Given the description of an element on the screen output the (x, y) to click on. 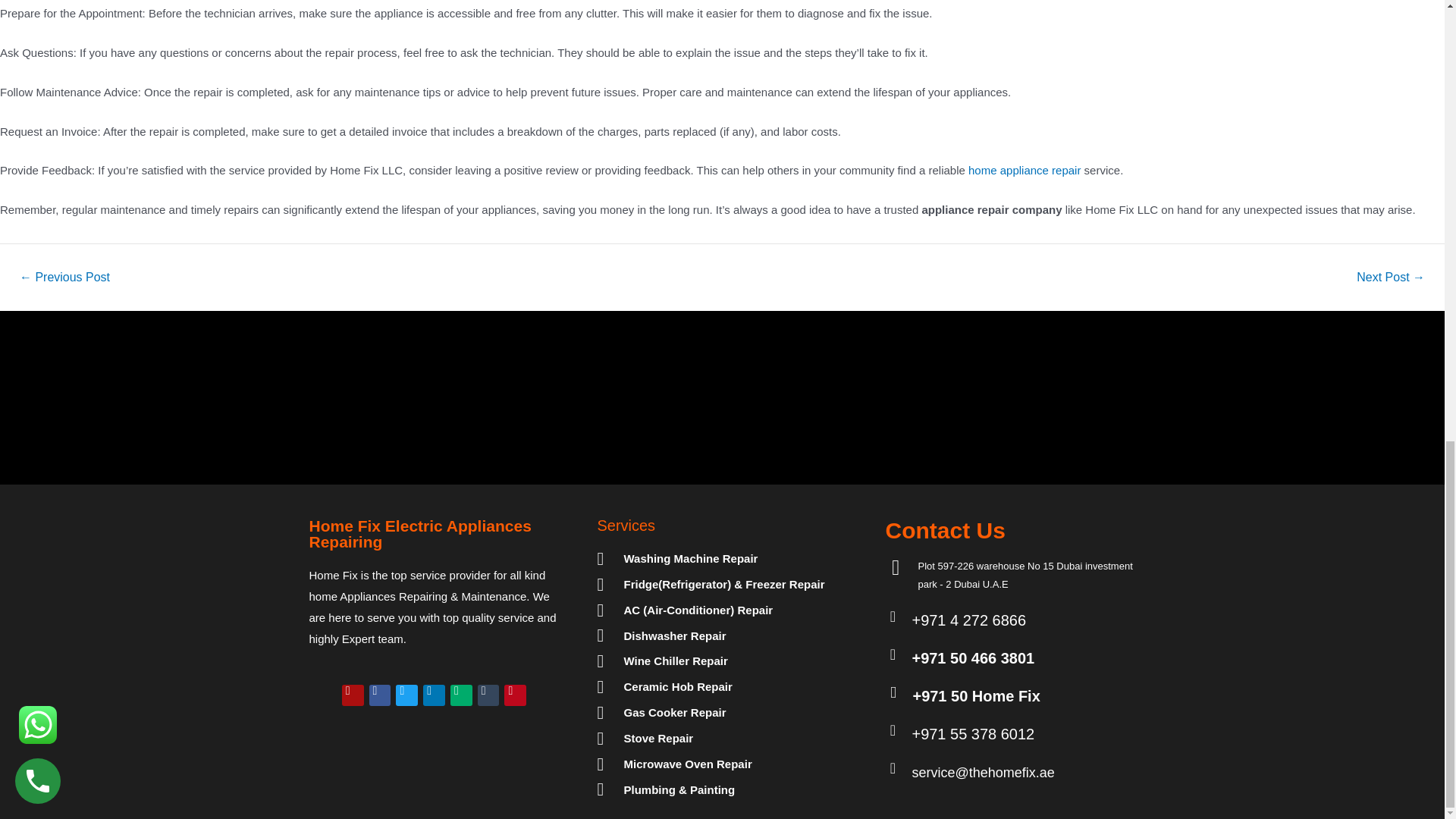
home appliance repair (1024, 169)
